Given the description of an element on the screen output the (x, y) to click on. 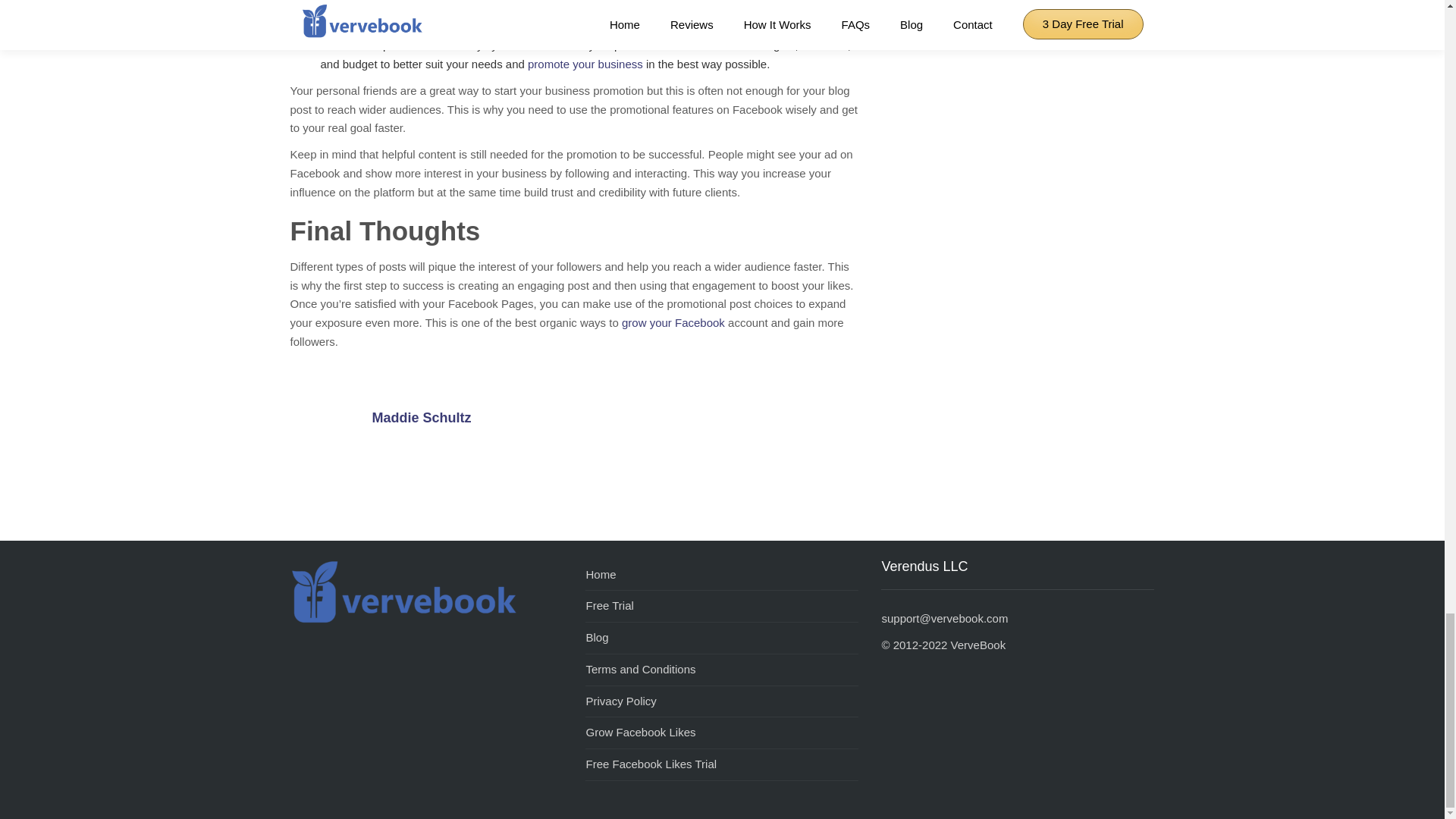
Maddie Schultz (328, 429)
